Given the description of an element on the screen output the (x, y) to click on. 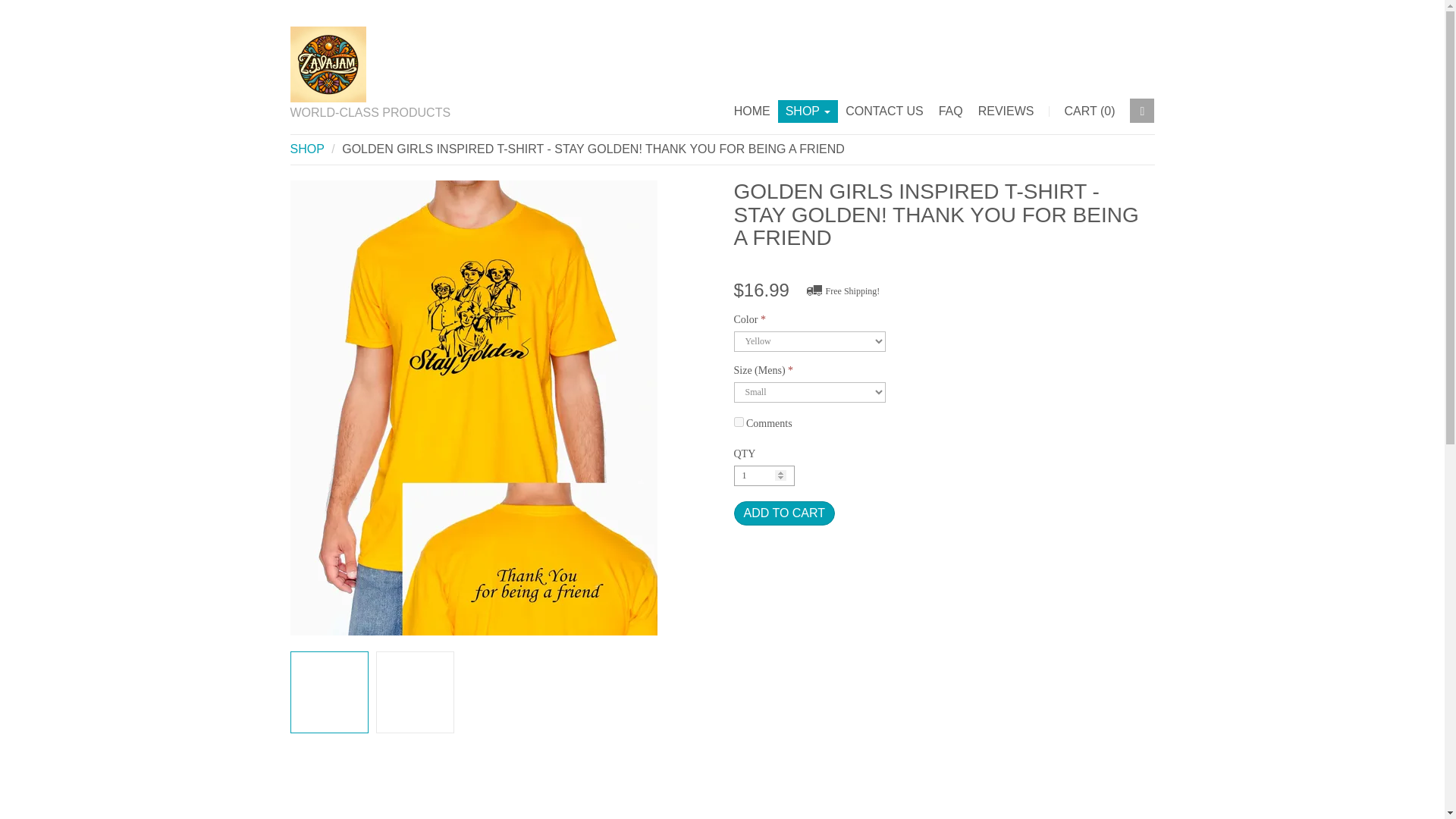
SHOP (306, 148)
HOME (751, 110)
REVIEWS (1006, 110)
SHOP (807, 110)
Add to Cart (784, 513)
1 (763, 476)
CONTACT US (884, 110)
FAQ (951, 110)
on (738, 421)
Add to Cart (784, 513)
